Given the description of an element on the screen output the (x, y) to click on. 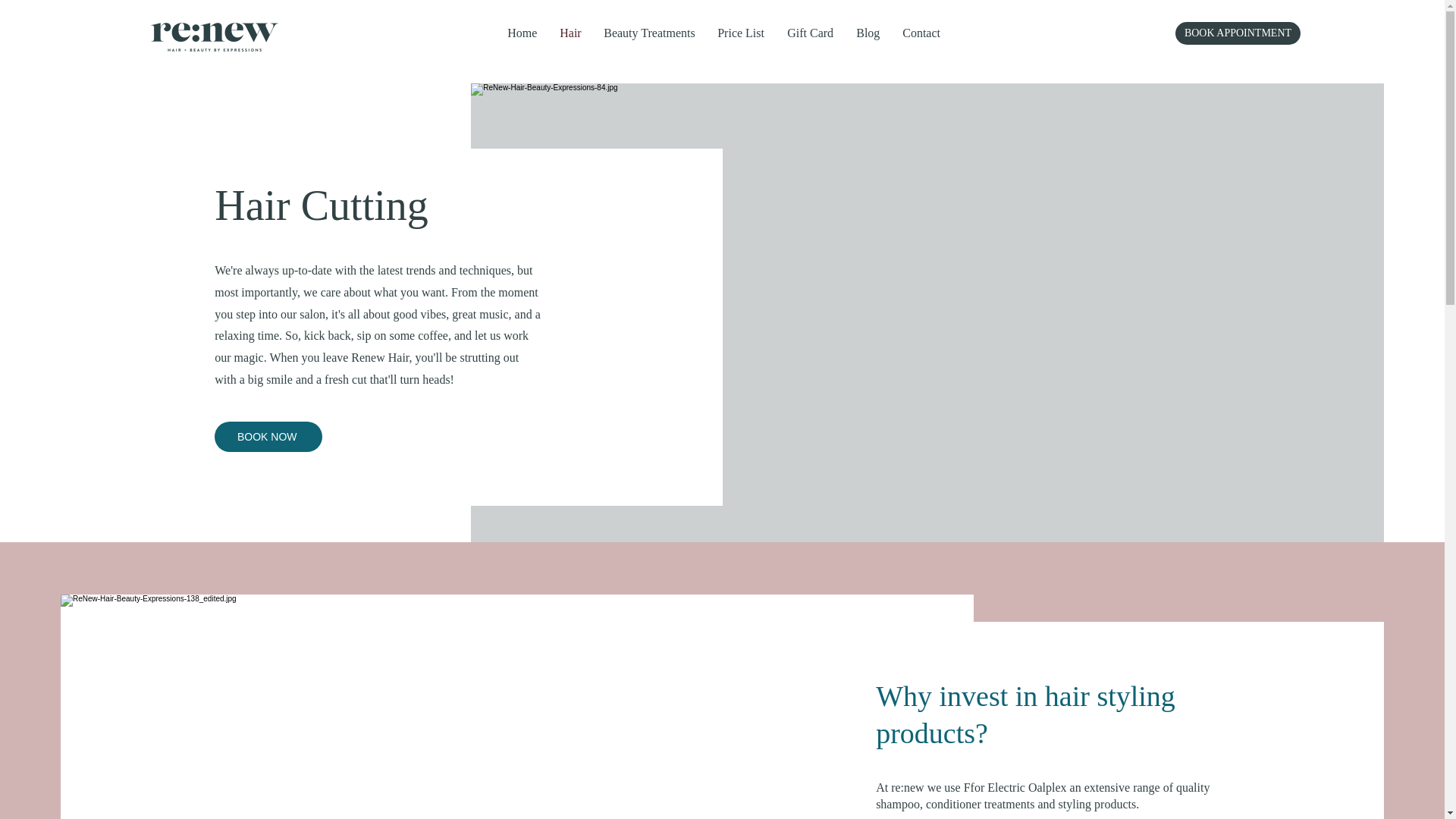
Hair (570, 33)
BOOK APPOINTMENT (1237, 33)
Home (522, 33)
Price List (741, 33)
Blog (867, 33)
BOOK NOW (267, 436)
Contact (921, 33)
Gift Card (810, 33)
Beauty Treatments (649, 33)
